Given the description of an element on the screen output the (x, y) to click on. 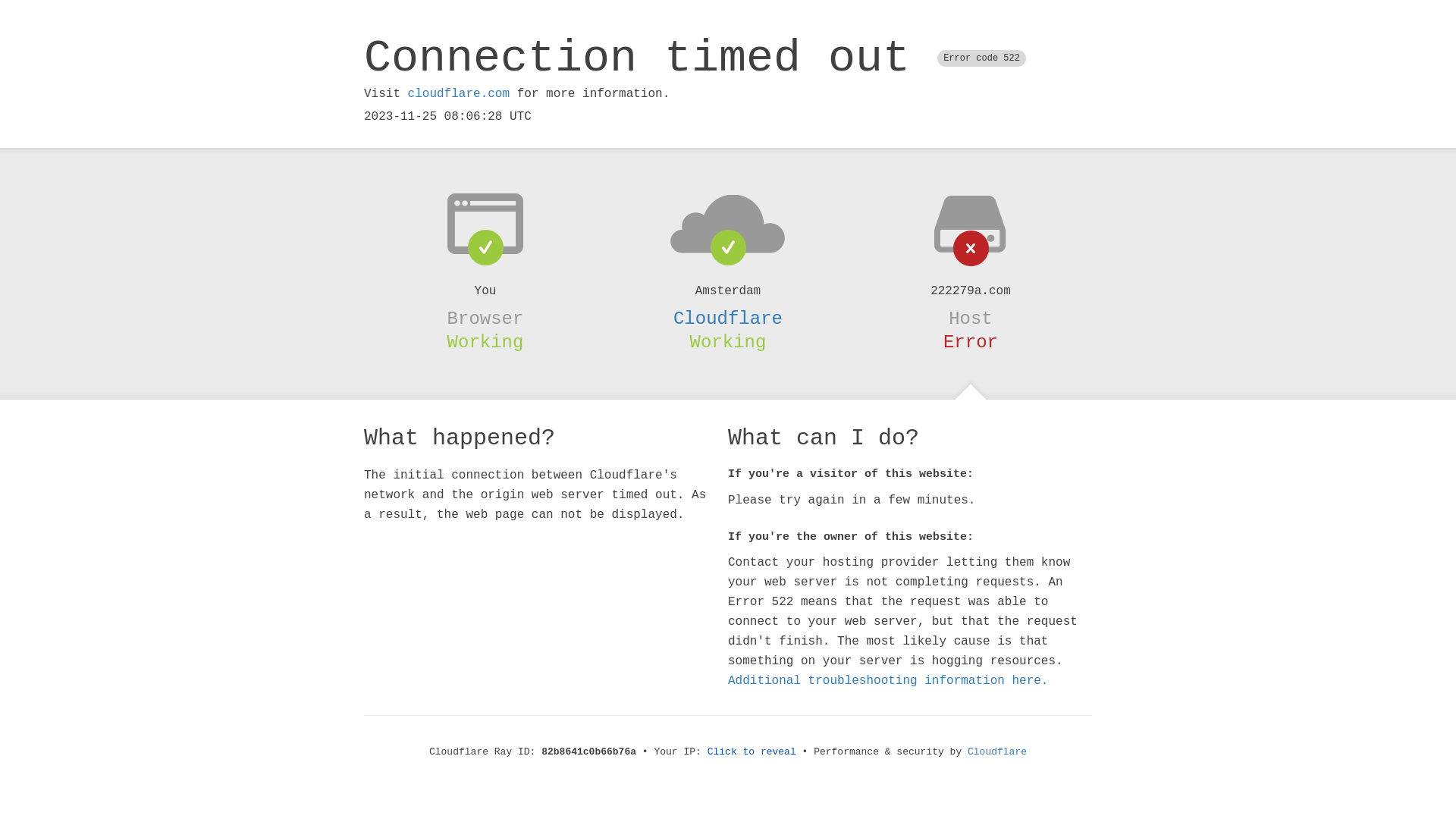
Cloudflare Element type: text (996, 751)
Additional troubleshooting information here. Element type: text (888, 680)
Cloudflare Element type: text (727, 318)
Click to reveal Element type: text (751, 751)
cloudflare.com Element type: text (458, 93)
